Given the description of an element on the screen output the (x, y) to click on. 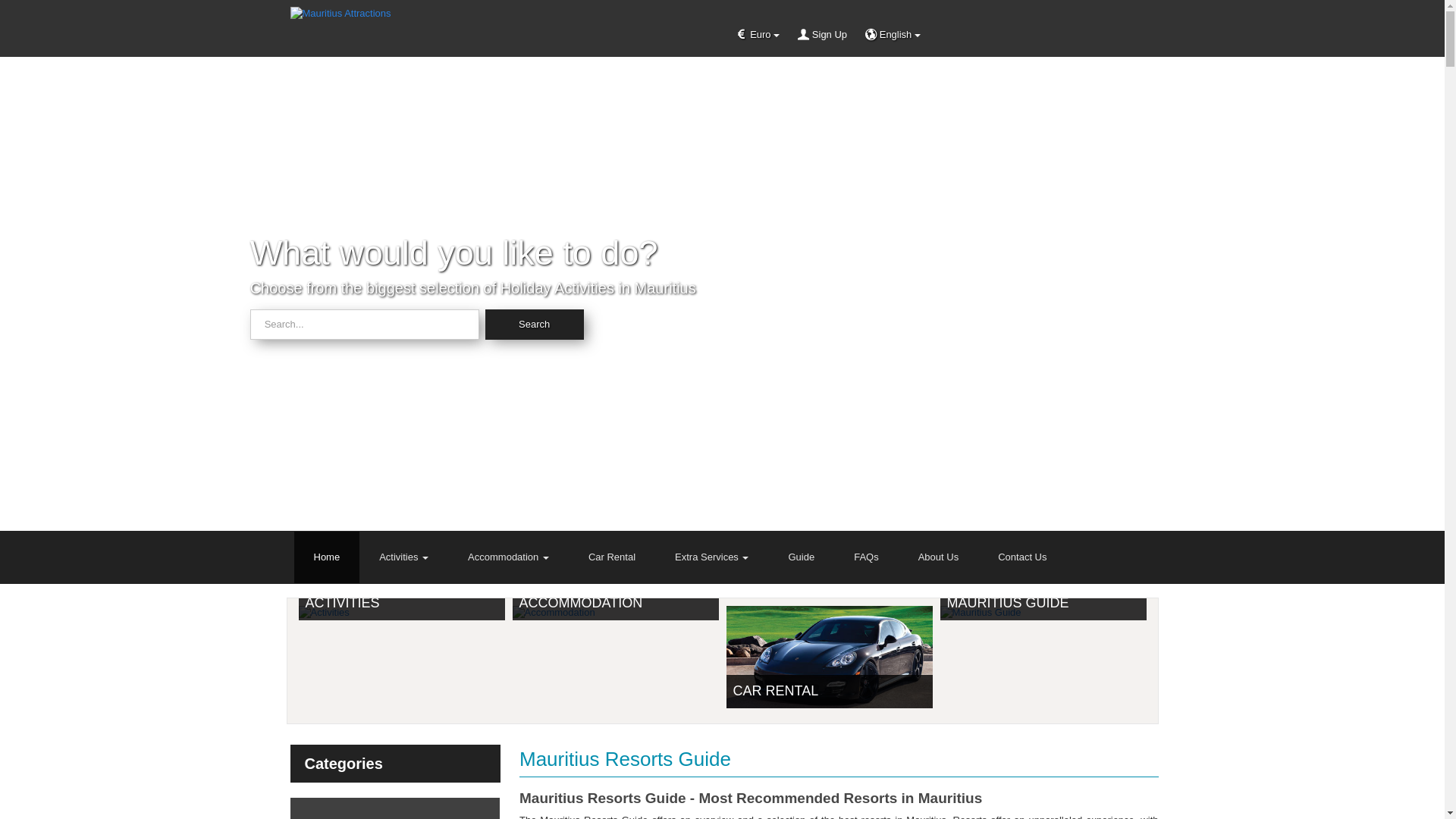
Sign Up (821, 34)
English (893, 34)
Shopping Cart (1107, 33)
Euro (757, 34)
